Given the description of an element on the screen output the (x, y) to click on. 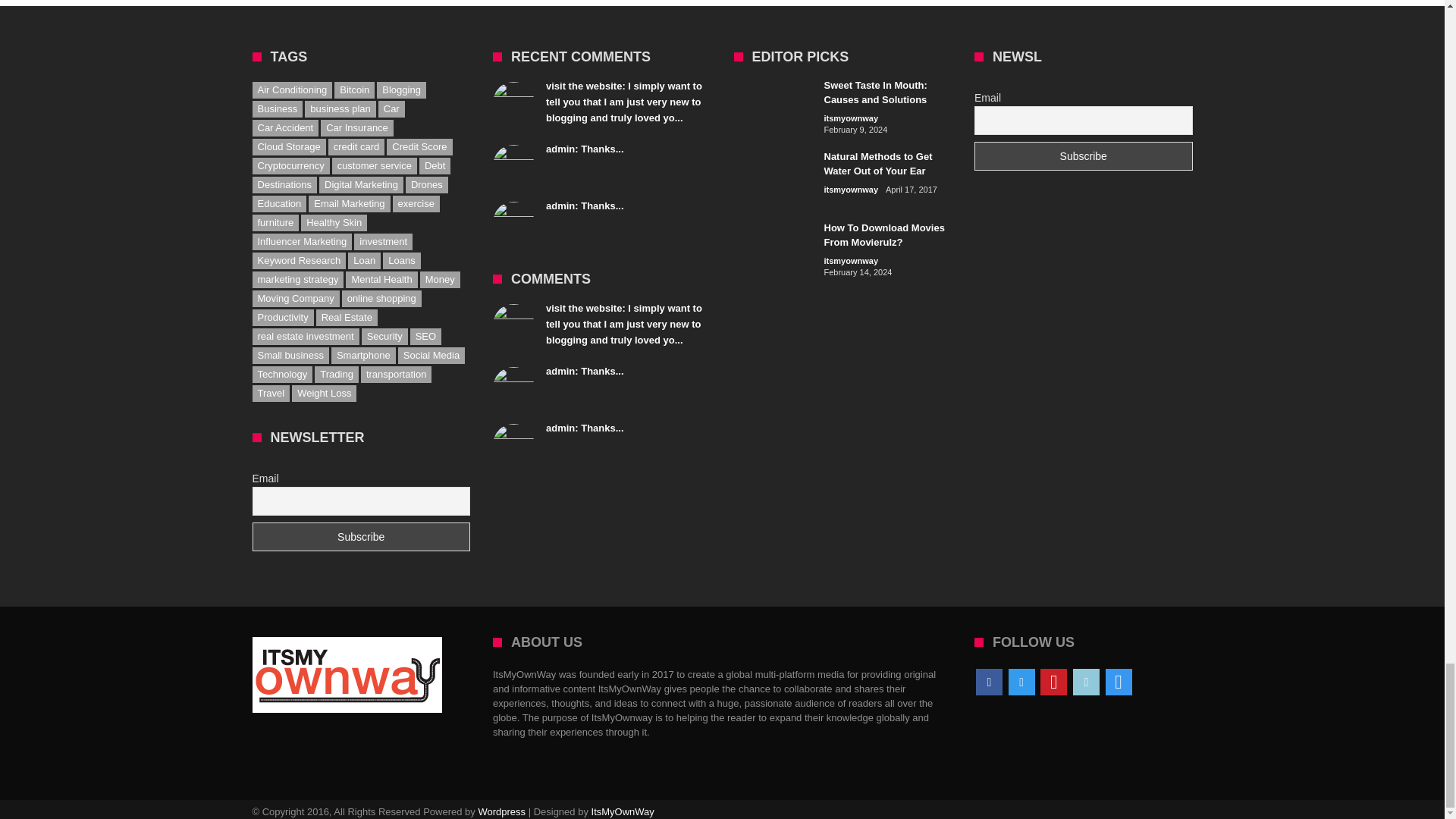
Subscribe (360, 536)
Subscribe (1083, 155)
